Given the description of an element on the screen output the (x, y) to click on. 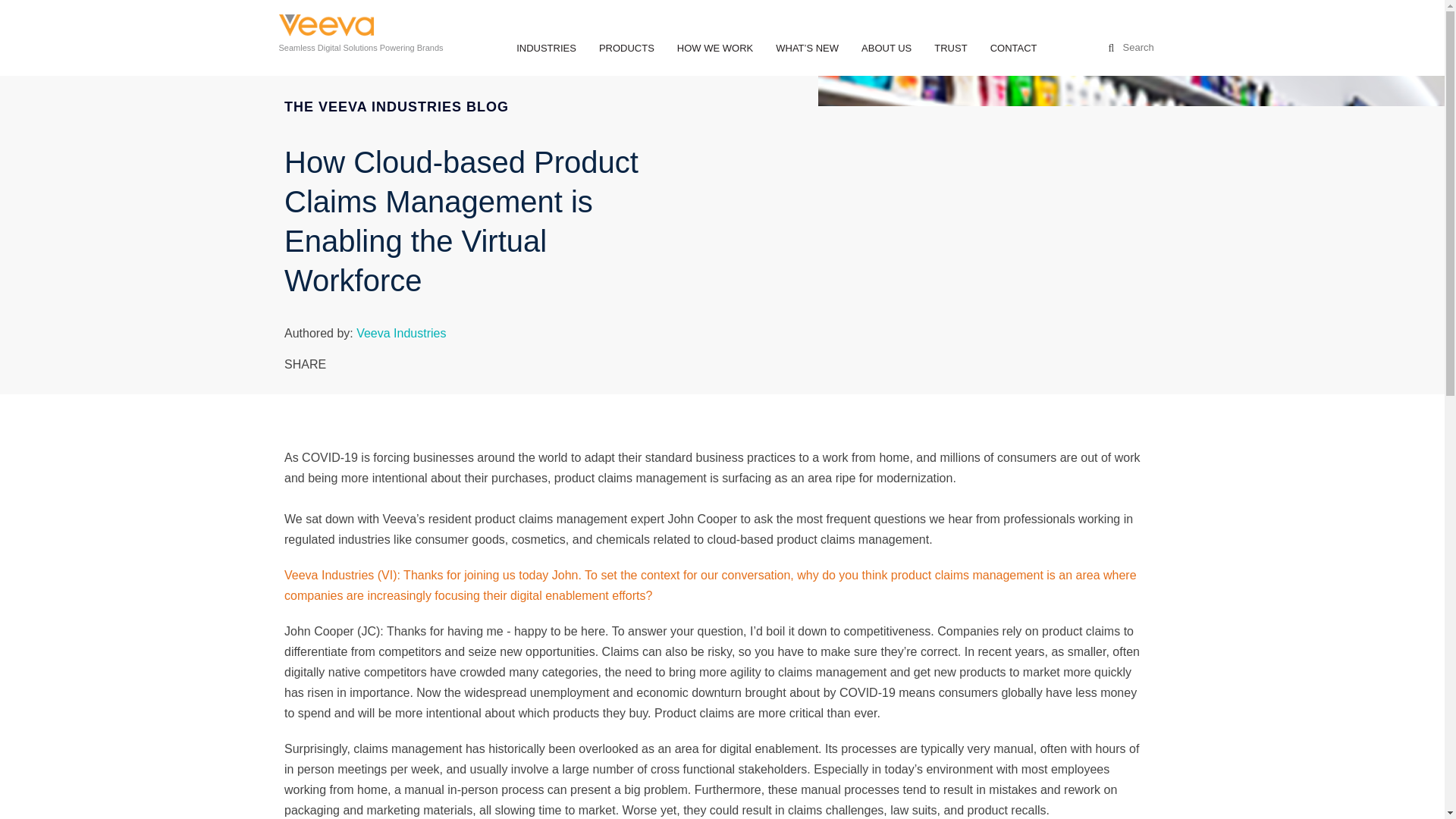
INDUSTRIES (546, 48)
Veeva Industries (326, 27)
HOW WE WORK (714, 48)
PRODUCTS (626, 48)
ABOUT US (886, 48)
